Given the description of an element on the screen output the (x, y) to click on. 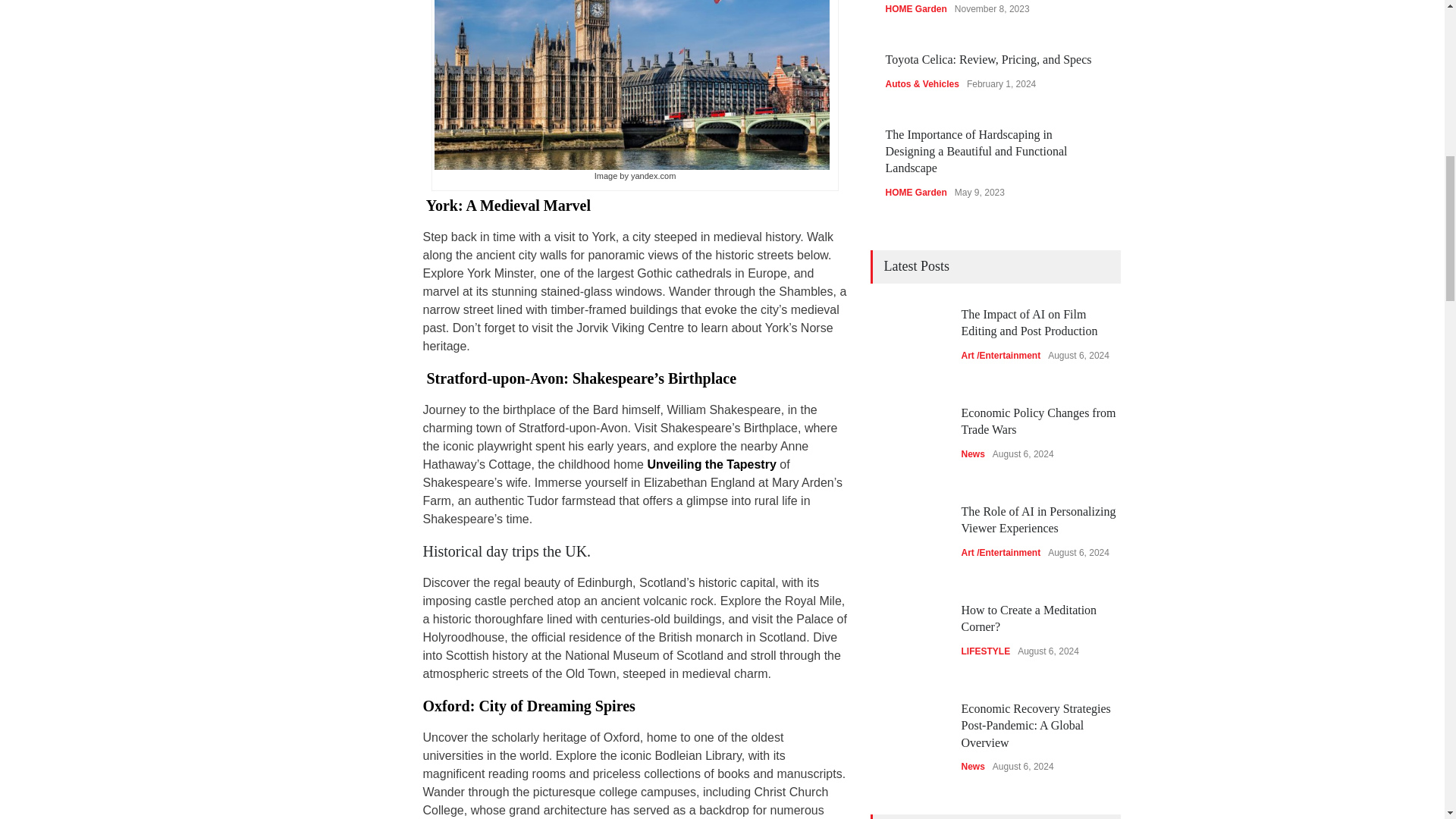
Unveiling the Tapestry (711, 463)
